Given the description of an element on the screen output the (x, y) to click on. 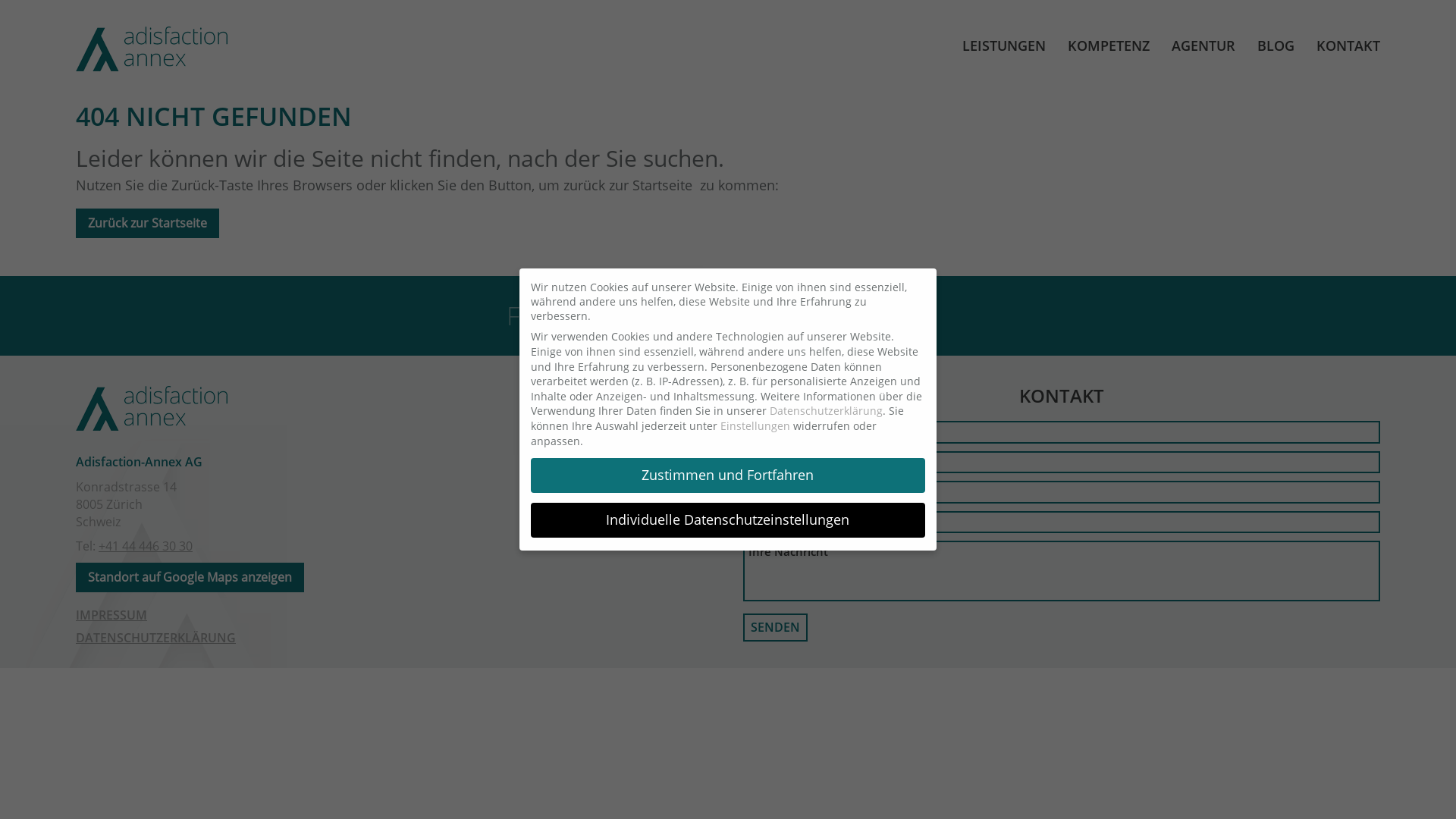
Einstellungen Element type: text (755, 425)
IMPRESSUM Element type: text (111, 614)
Zustimmen und Fortfahren Element type: text (727, 475)
LEISTUNGEN Element type: text (1003, 45)
KOMPETENZ Element type: text (1108, 45)
KONTAKT Element type: text (1348, 45)
+41 44 446 30 30 Element type: text (145, 545)
BLOG Element type: text (1275, 45)
Individuelle Datenschutzeinstellungen Element type: text (727, 519)
Standort auf Google Maps anzeigen Element type: text (189, 577)
AGENTUR Element type: text (1203, 45)
Senden Element type: text (775, 627)
